Given the description of an element on the screen output the (x, y) to click on. 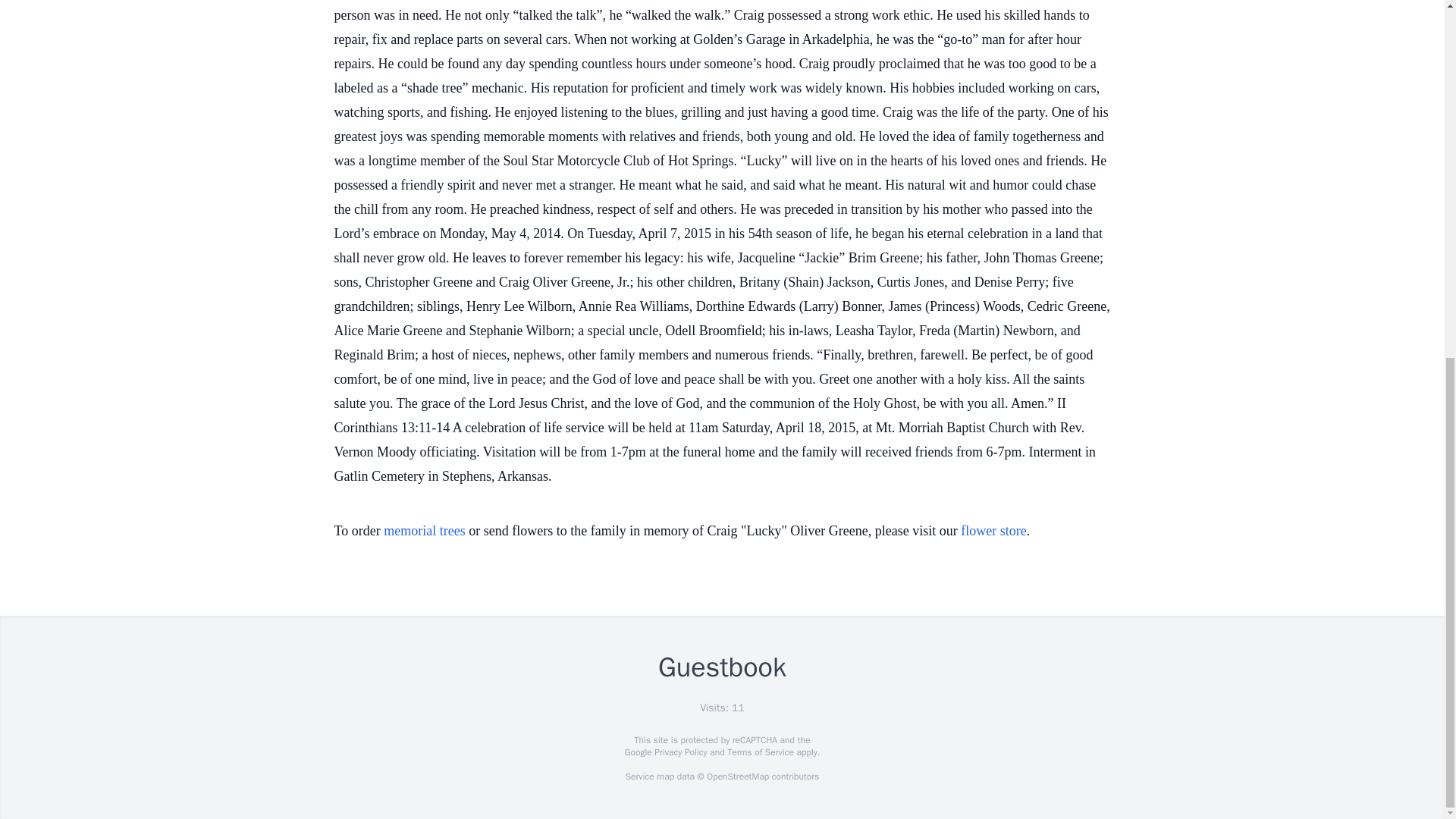
Terms of Service (759, 752)
flower store (993, 530)
OpenStreetMap (737, 776)
memorial trees (424, 530)
Privacy Policy (679, 752)
